Given the description of an element on the screen output the (x, y) to click on. 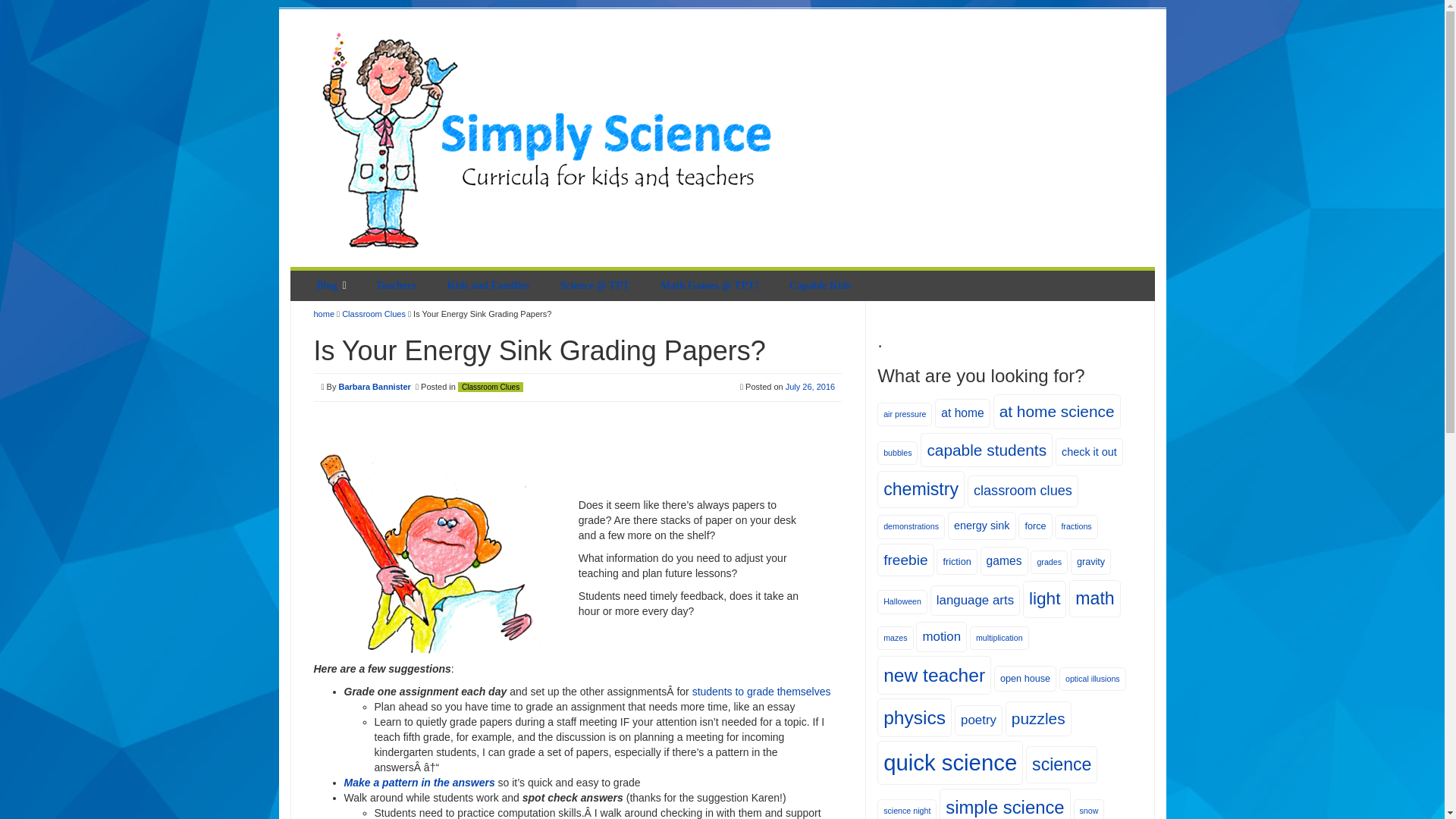
Classroom Clues (374, 313)
Classroom Clues (490, 387)
students to grade themselves (762, 691)
Barbara Bannister (373, 386)
capable students (986, 450)
at home (962, 412)
Kids and Families (489, 286)
check it out (1088, 452)
force (1034, 525)
chemistry (920, 488)
